Given the description of an element on the screen output the (x, y) to click on. 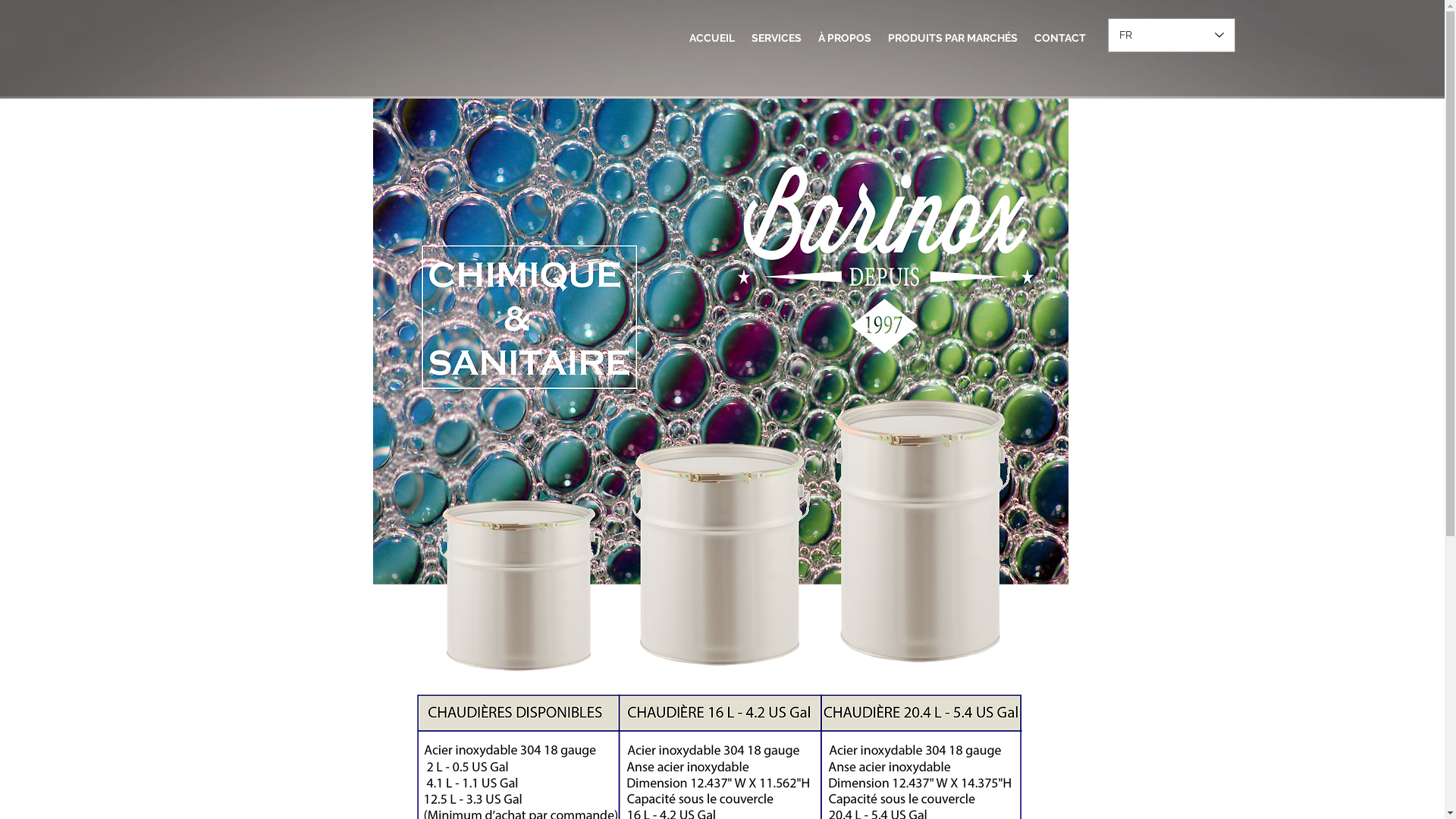
CONTACT Element type: text (1059, 37)
SERVICES Element type: text (776, 37)
ACCUEIL Element type: text (711, 37)
